Given the description of an element on the screen output the (x, y) to click on. 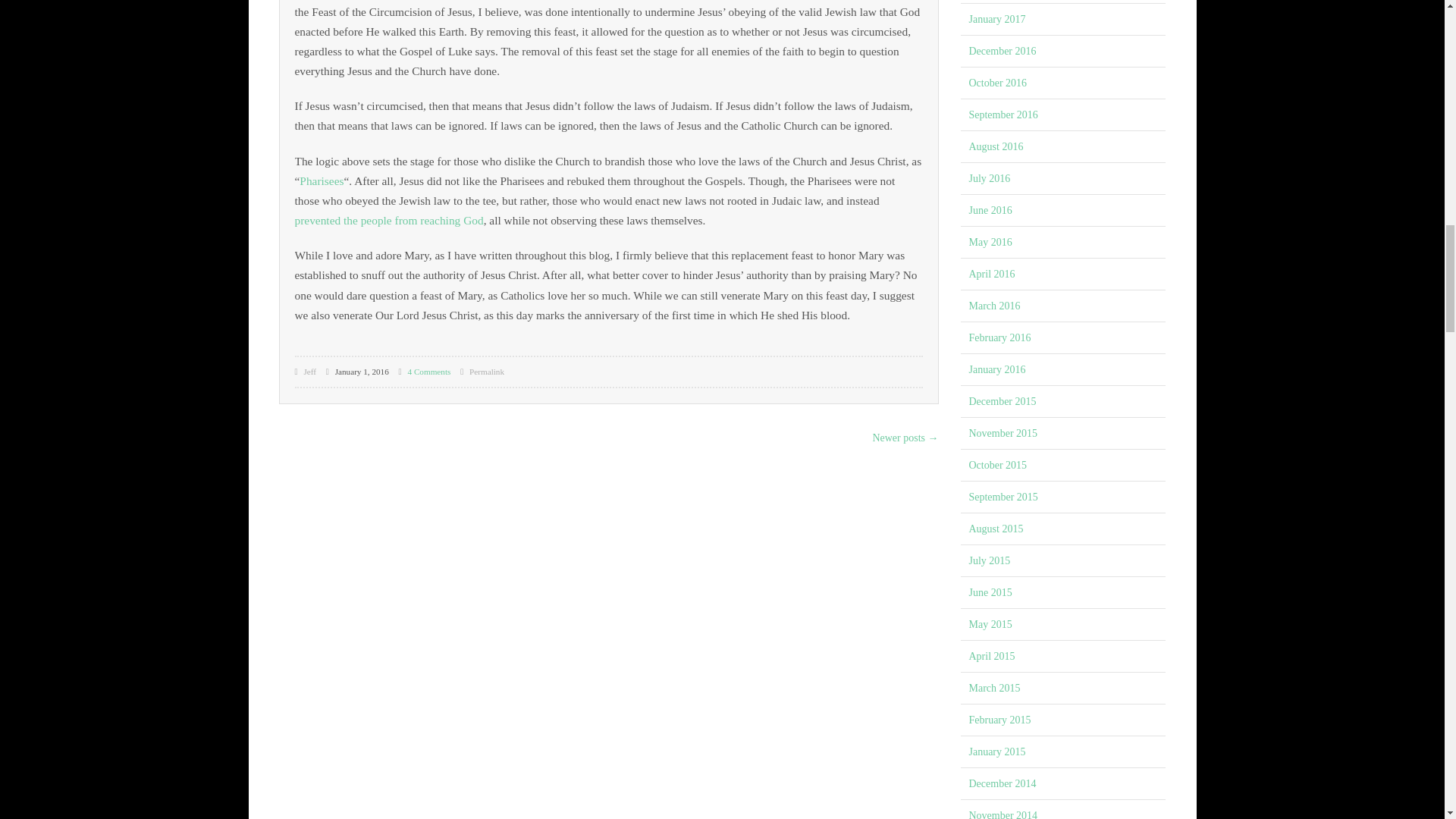
The posts comments. (429, 370)
2016-01-01T14:54:29-0600 (357, 370)
Are Traditionalists The Modern Day Pharisees? (321, 180)
Permalink (485, 370)
A New Year, A Solemnity of Mary, and a Forgotten Feast (485, 370)
4 Comments (429, 370)
Pharisees (321, 180)
prevented the people from reaching God (388, 219)
Jeff (308, 370)
